Given the description of an element on the screen output the (x, y) to click on. 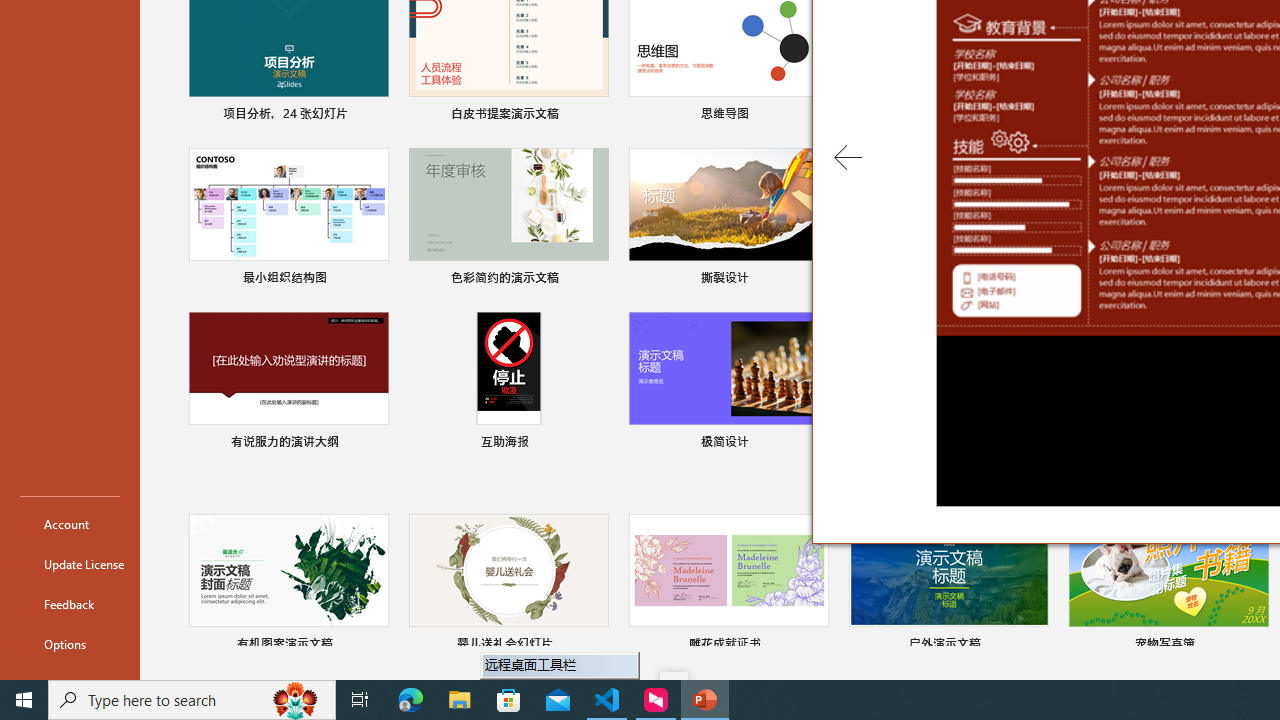
Previous Template (847, 157)
Feedback (69, 603)
Pin to list (1255, 645)
Visual Studio Code - 1 running window (607, 699)
Microsoft Store (509, 699)
